Given the description of an element on the screen output the (x, y) to click on. 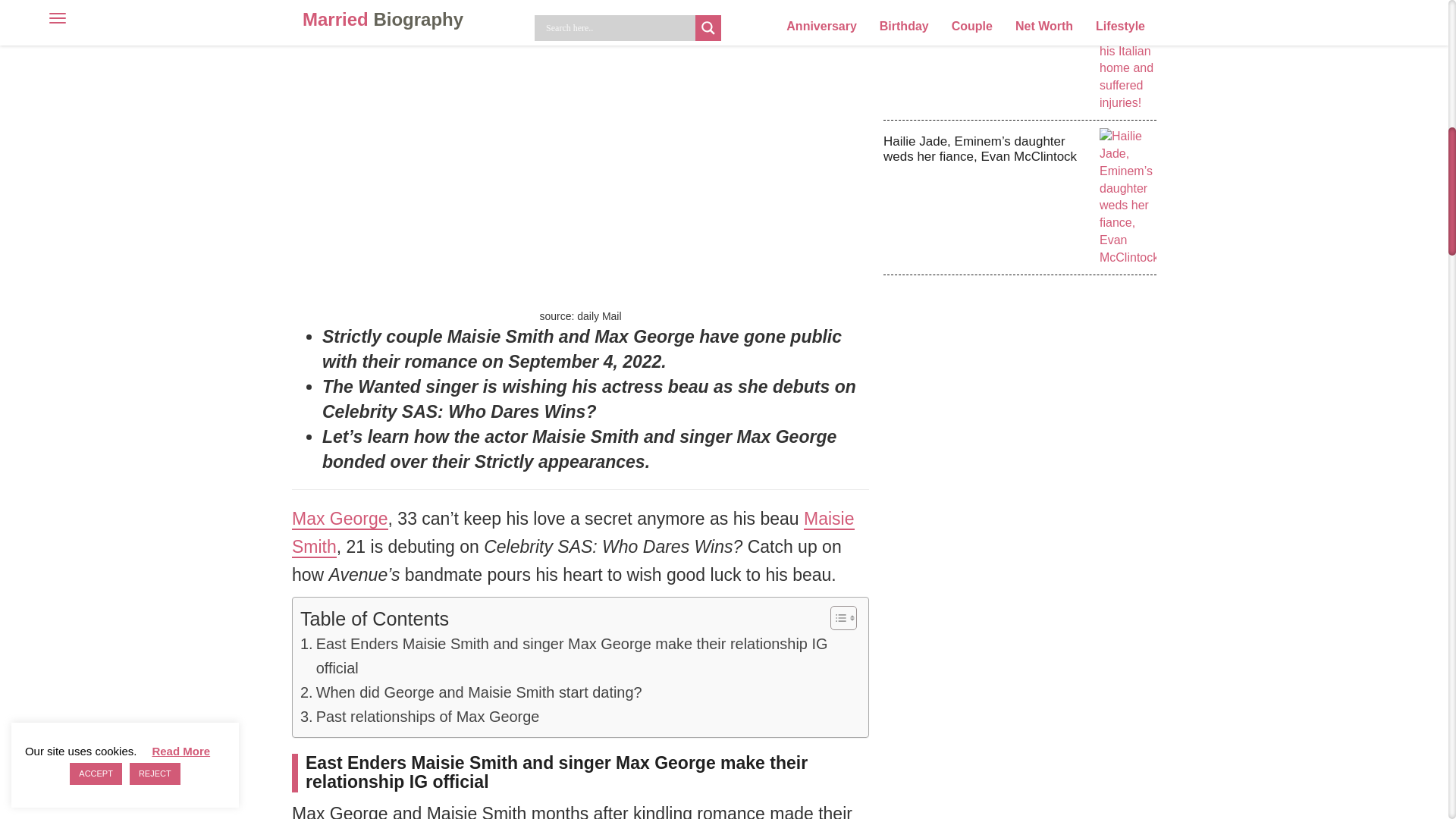
Past relationships of Max George (418, 717)
When did George and Maisie Smith start dating? (470, 692)
